Given the description of an element on the screen output the (x, y) to click on. 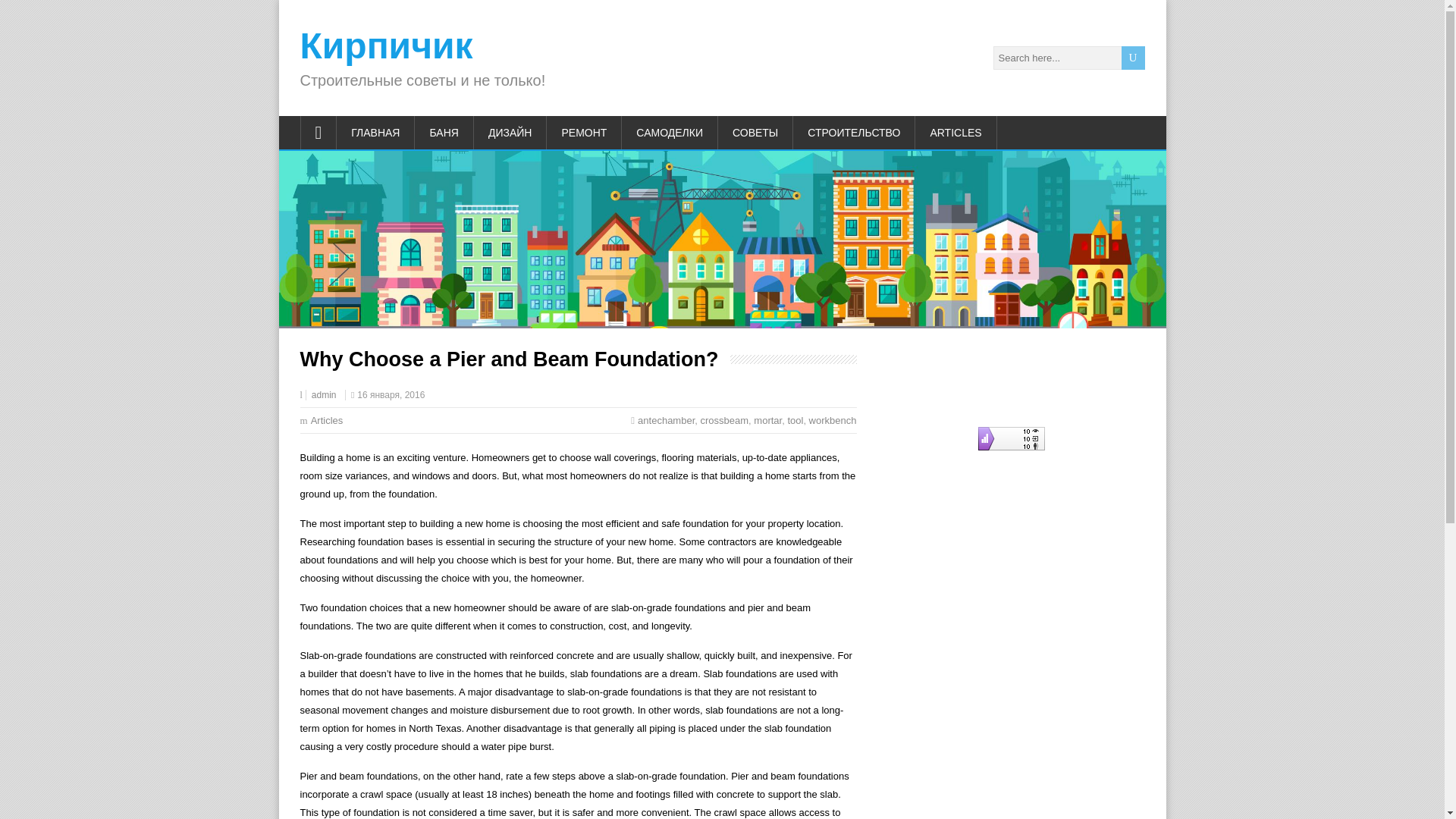
U (1132, 57)
tool (795, 419)
antechamber (665, 419)
workbench (833, 419)
ARTICLES (955, 132)
U (1132, 57)
Articles (327, 419)
U (1132, 57)
crossbeam (724, 419)
admin (323, 394)
mortar (767, 419)
